Given the description of an element on the screen output the (x, y) to click on. 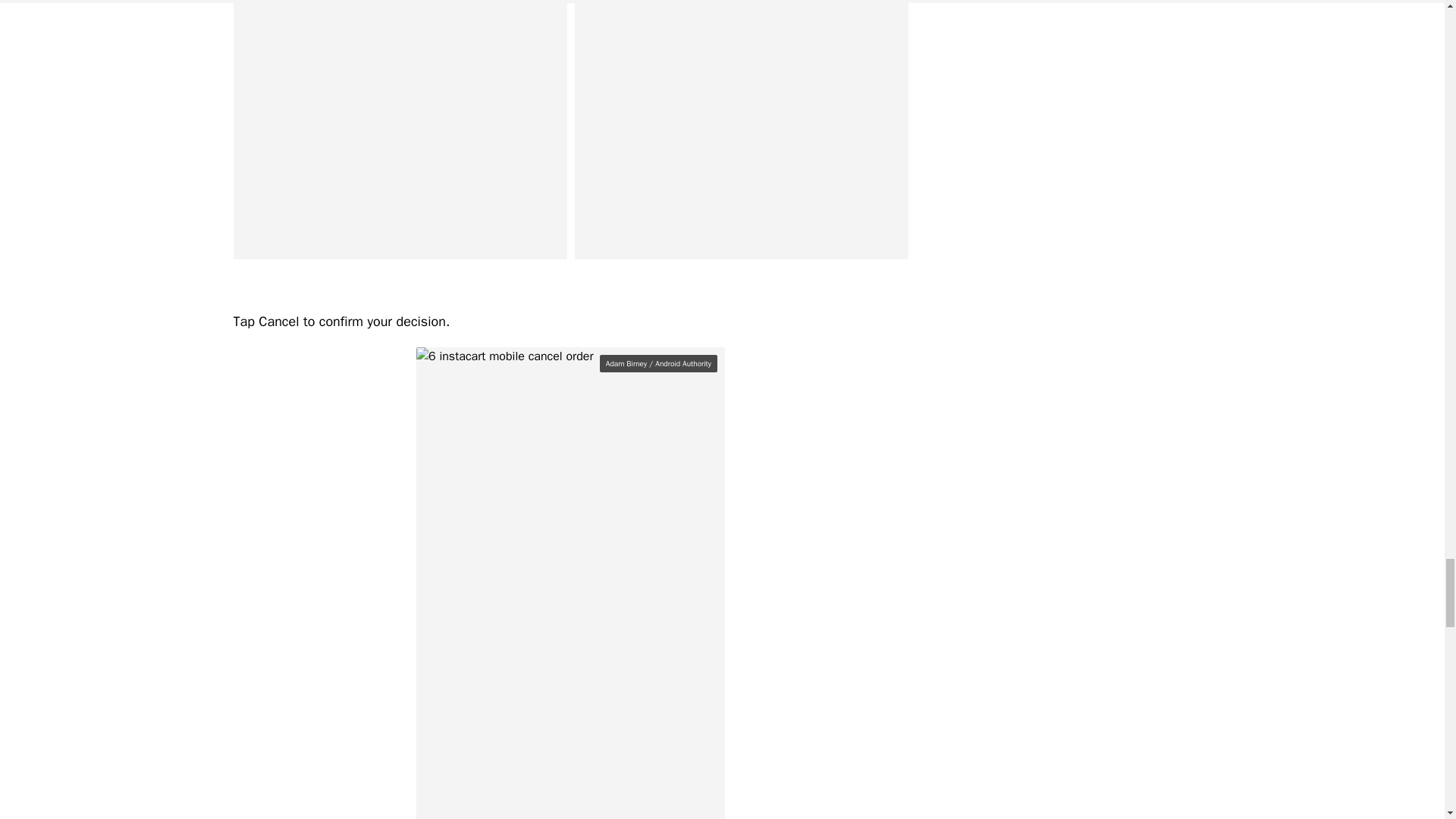
5 instacart mobile cancel order button (741, 129)
4 instacart mobile tap on more button (399, 129)
